Given the description of an element on the screen output the (x, y) to click on. 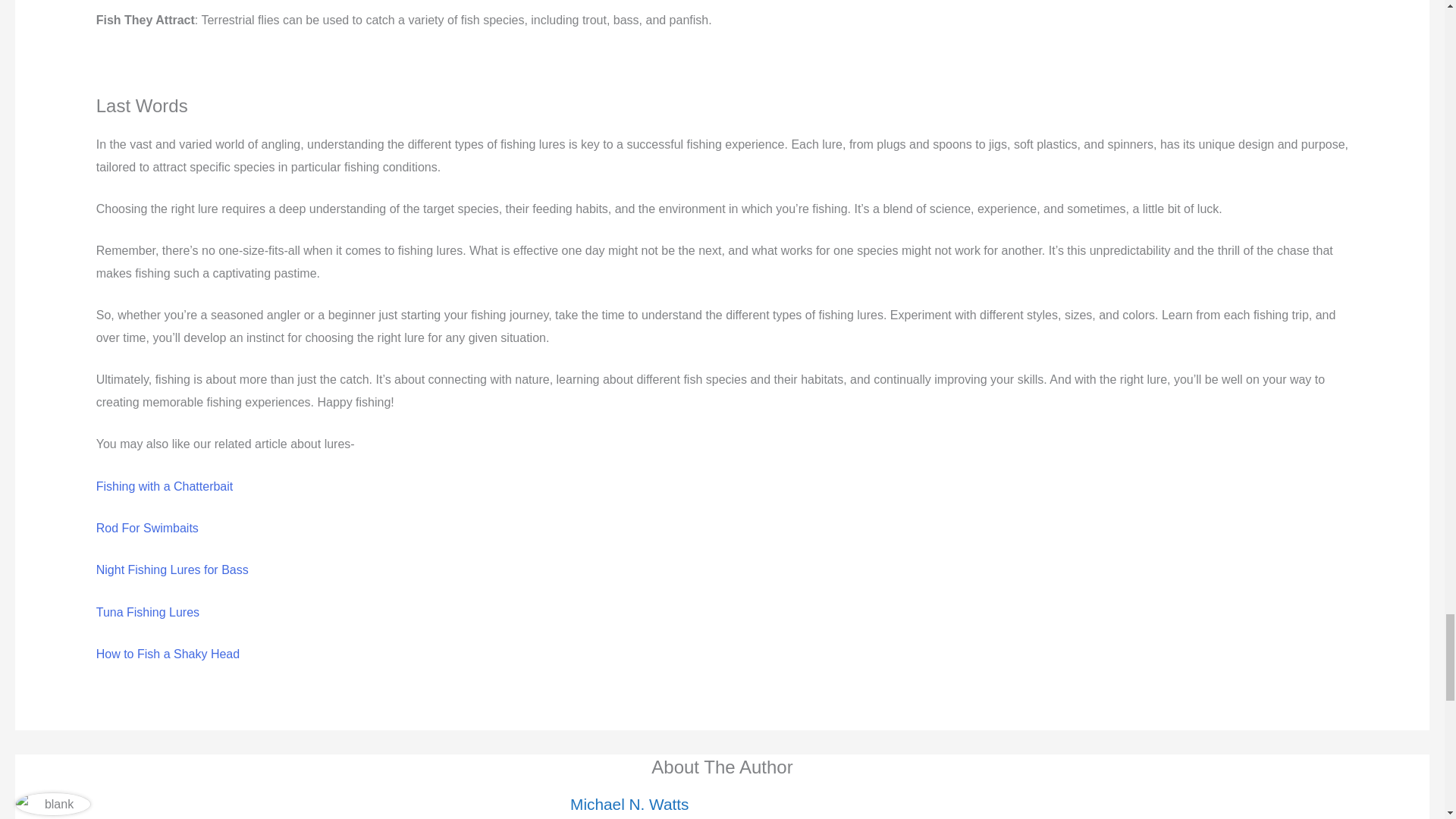
Night Fishing Lures for Bass (172, 569)
Fishing with a Chatterbait (164, 486)
Rod For Swimbaits (147, 527)
How to Fish a Shaky Head (168, 653)
Michael N. Watts (628, 803)
Tuna Fishing Lures (147, 612)
